Given the description of an element on the screen output the (x, y) to click on. 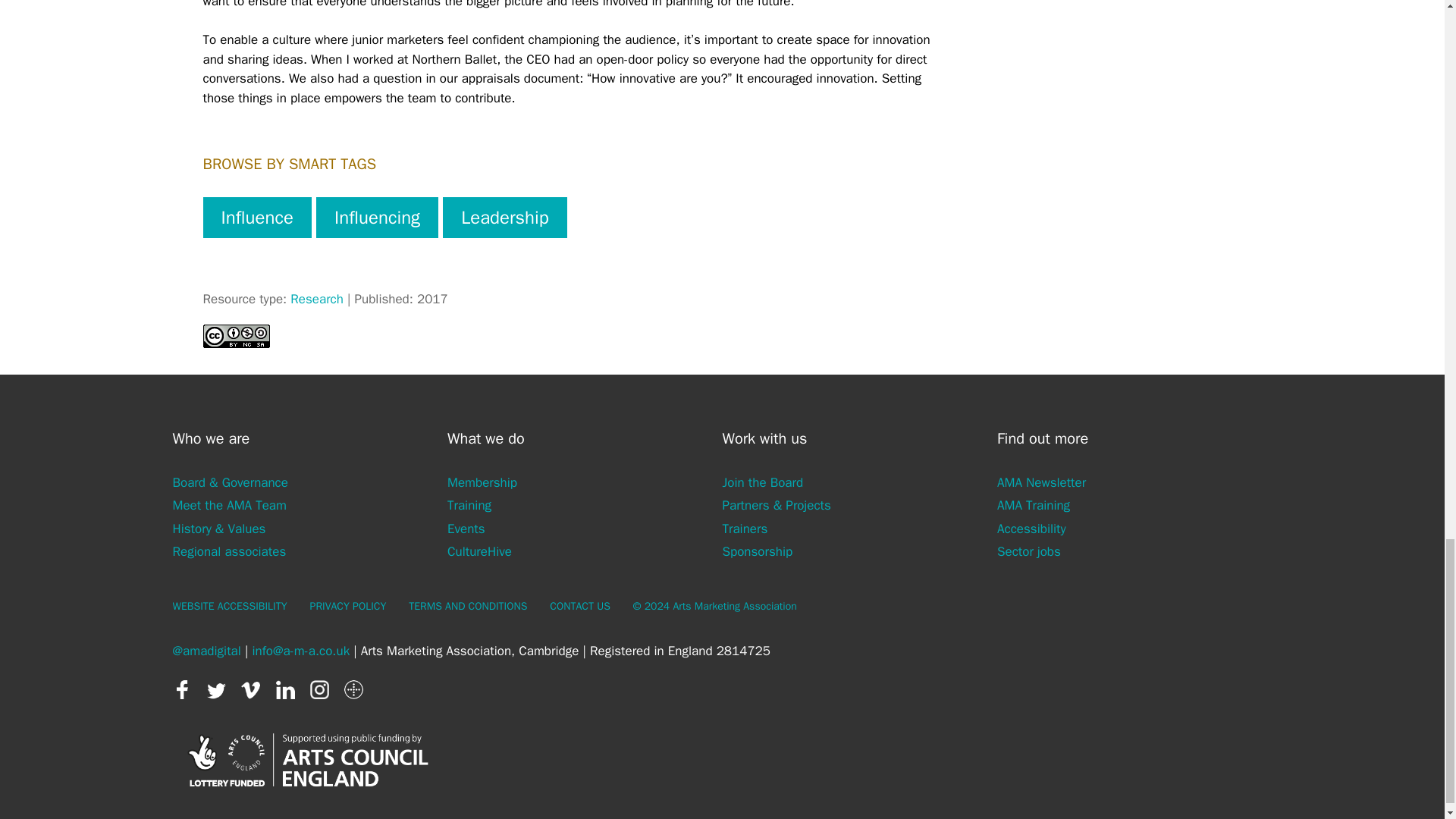
Membership (481, 482)
Influencing (376, 217)
Leadership (504, 217)
Regional associates (229, 551)
Training (469, 505)
Sponsorship (757, 551)
Research (316, 299)
Events (465, 528)
AMA Training (1033, 505)
Join the Board (762, 482)
Meet the AMA Team (229, 505)
Trainers (744, 528)
Influence (257, 217)
AMA Newsletter (1041, 482)
CultureHive (479, 551)
